Given the description of an element on the screen output the (x, y) to click on. 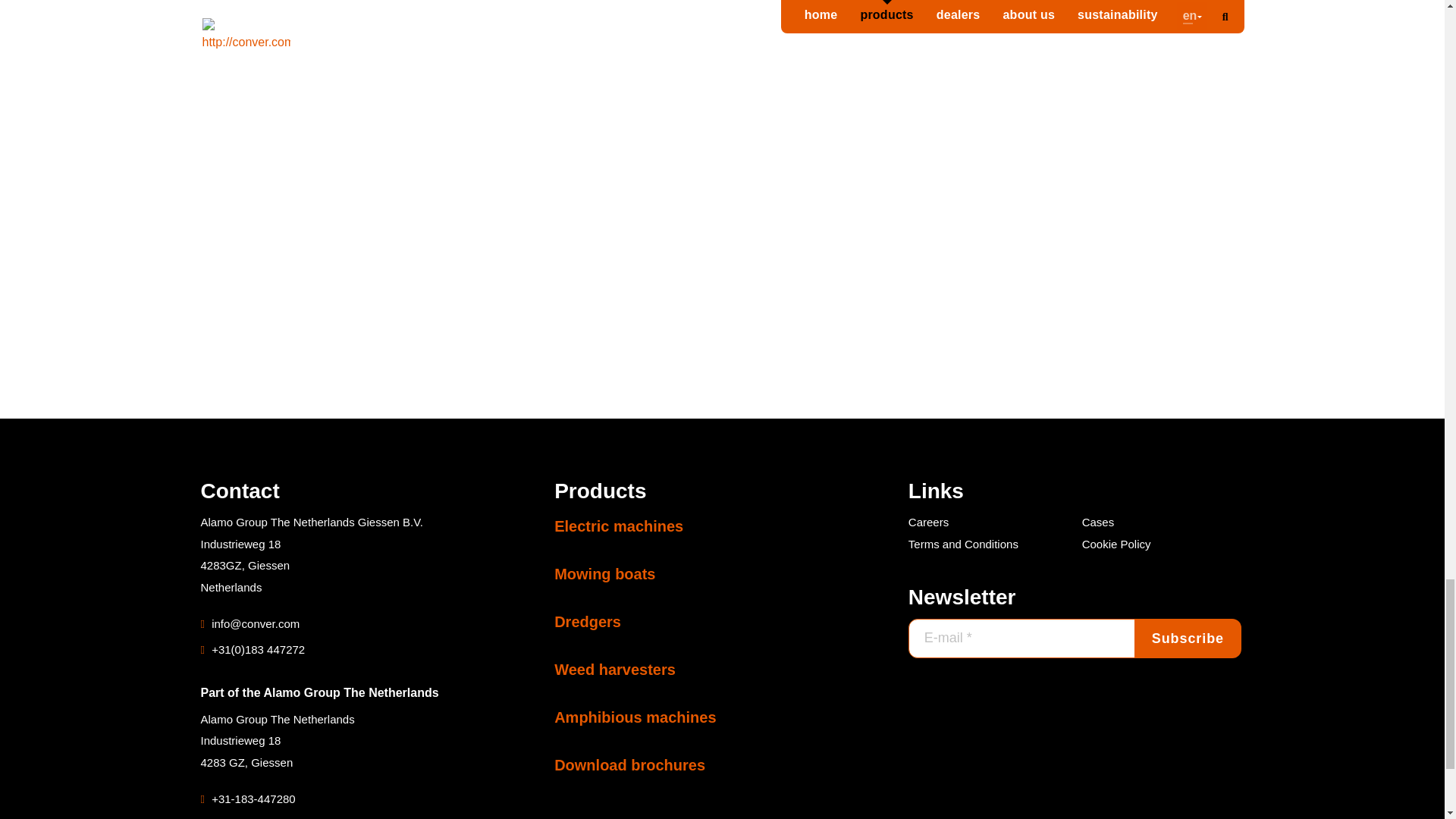
Alamo Group The Netherlands (350, 691)
Dredgers (587, 621)
Electric machines (618, 525)
Weed harvesters (614, 669)
Alamo Group (254, 816)
Mowing boats (604, 573)
Alamo Group (350, 691)
alamo-groupnl.com (254, 816)
